Given the description of an element on the screen output the (x, y) to click on. 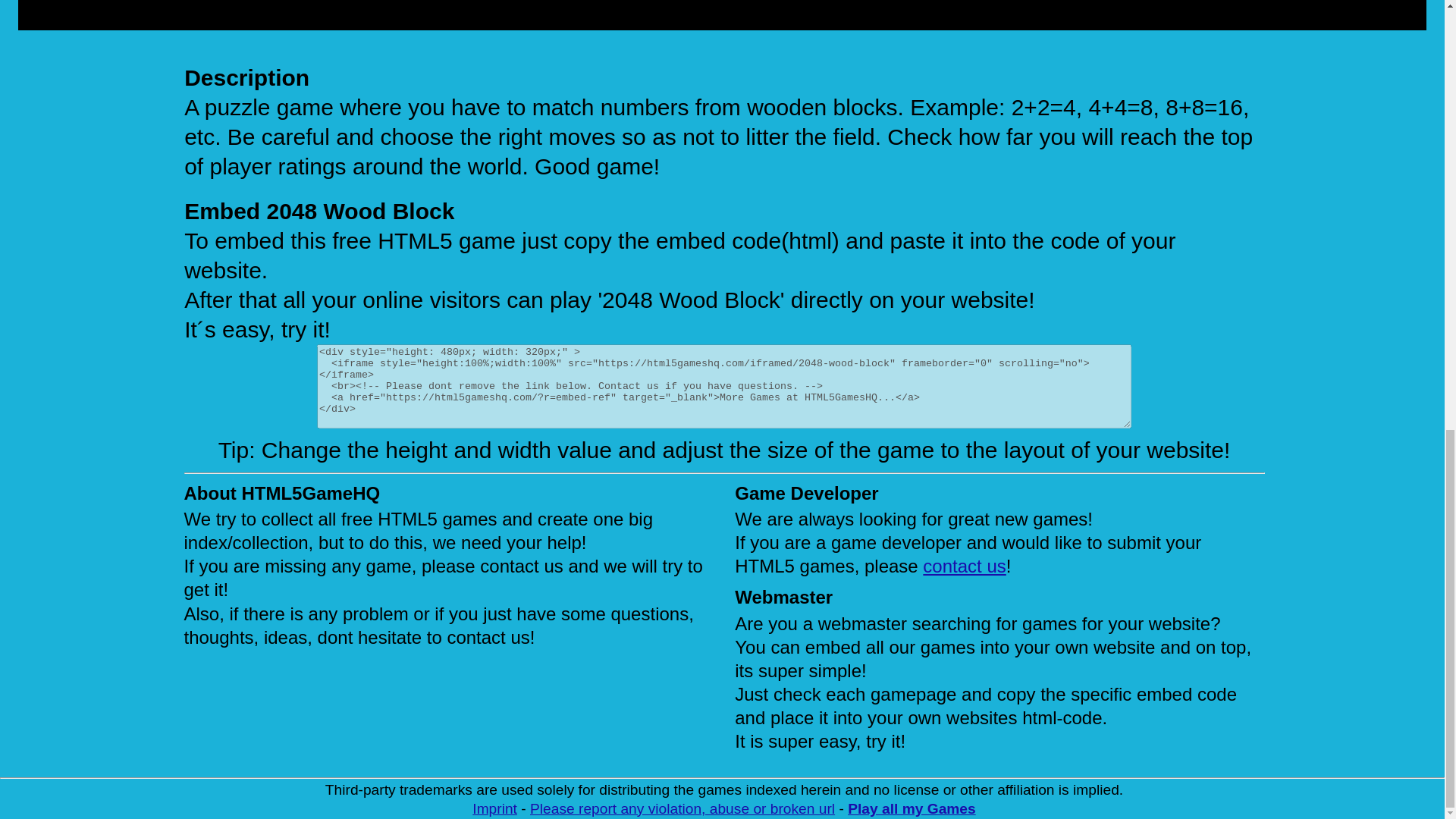
contact us (964, 566)
Imprint (493, 808)
Please report any violation, abuse or broken url (681, 808)
Play all my Games (911, 808)
